Given the description of an element on the screen output the (x, y) to click on. 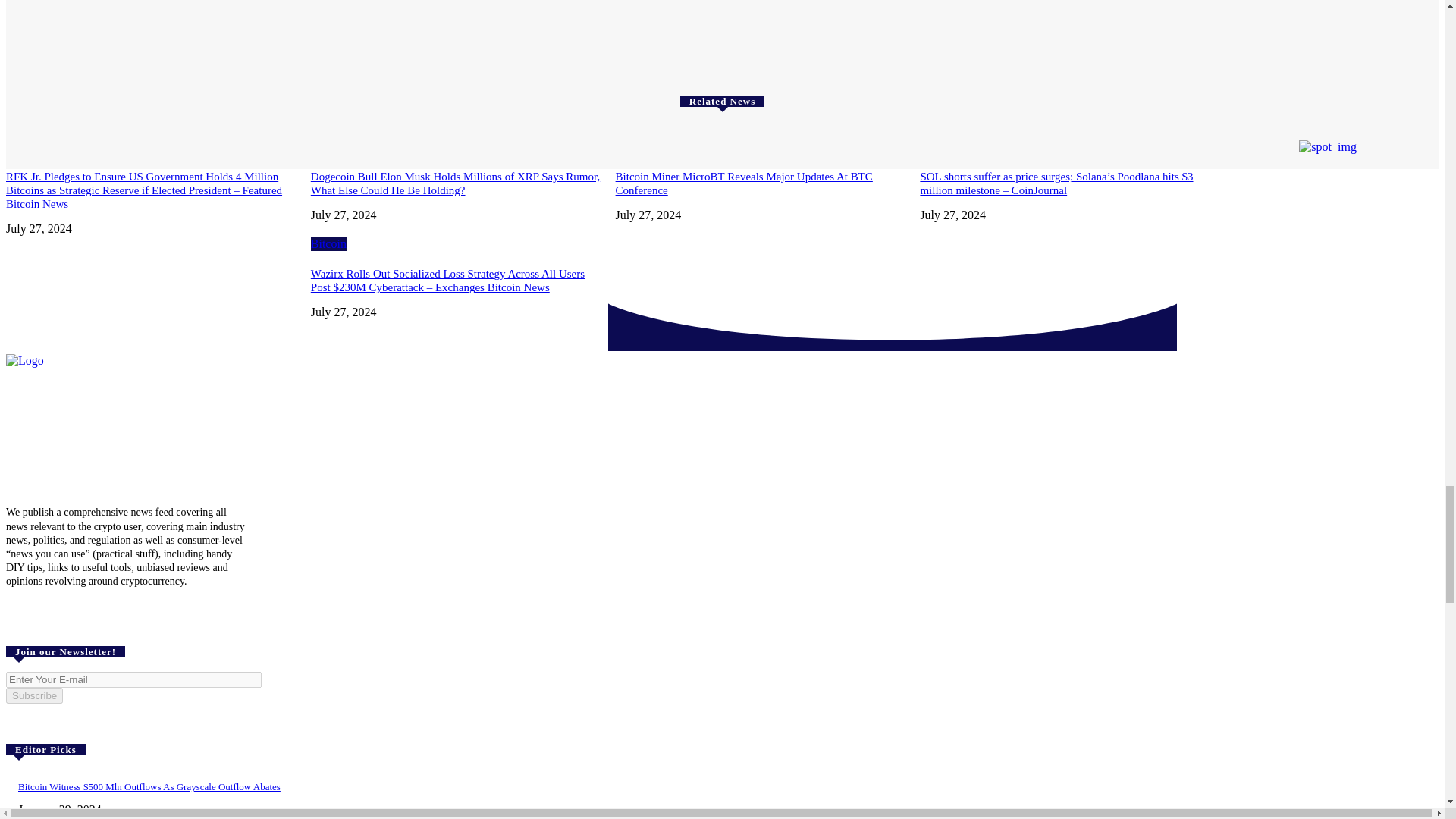
Subscribe (33, 695)
